Given the description of an element on the screen output the (x, y) to click on. 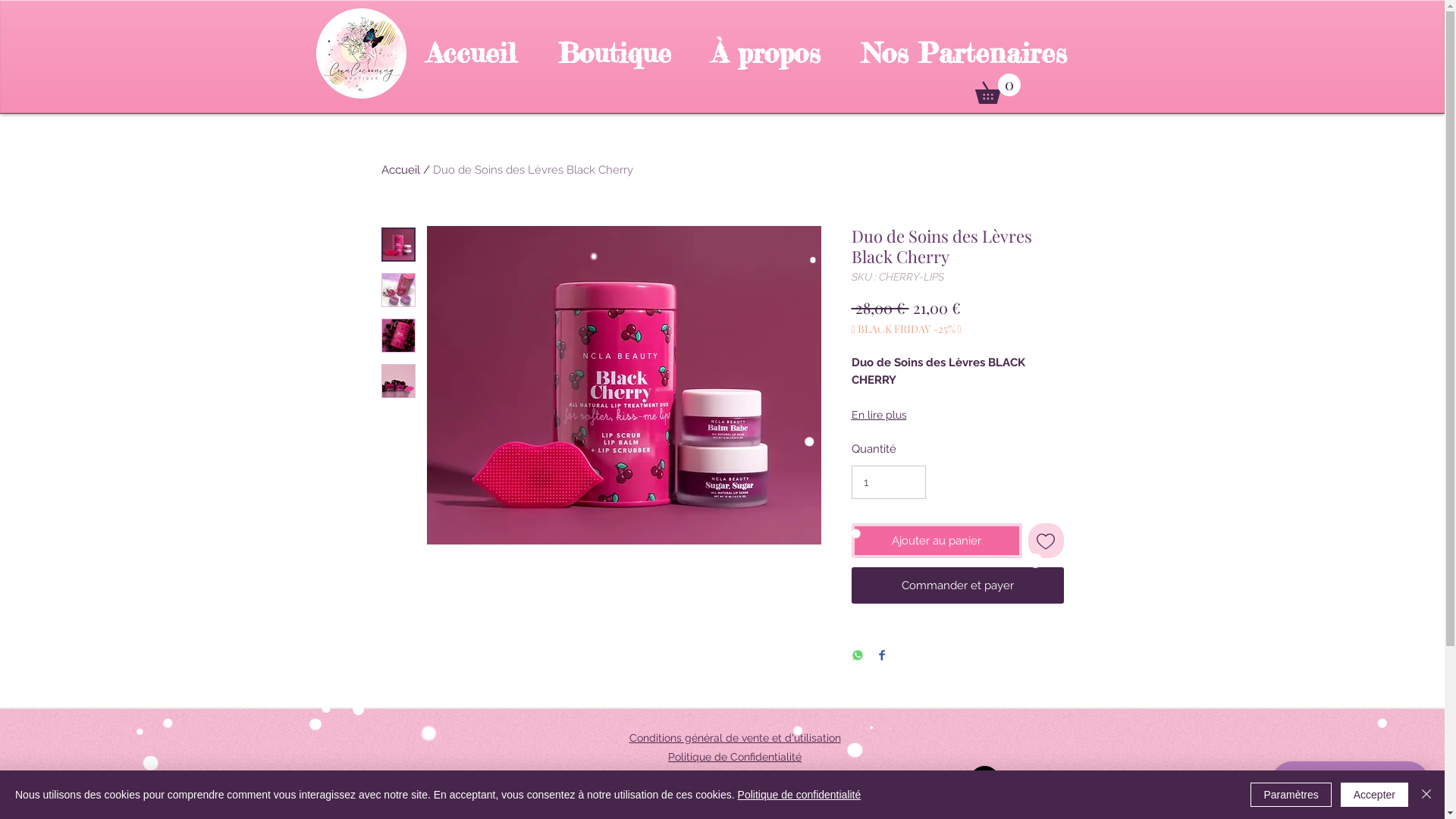
Contact Element type: text (734, 794)
Accueil Element type: text (471, 53)
Nos Partenaires Element type: text (963, 53)
Ajouter au panier Element type: text (936, 540)
En lire plus Element type: text (956, 414)
Commander et payer Element type: text (956, 585)
Accueil Element type: text (399, 169)
Accepter Element type: text (1374, 794)
Boutique Element type: text (613, 53)
0 Element type: text (997, 88)
Livraison et Retour Element type: text (734, 775)
